Given the description of an element on the screen output the (x, y) to click on. 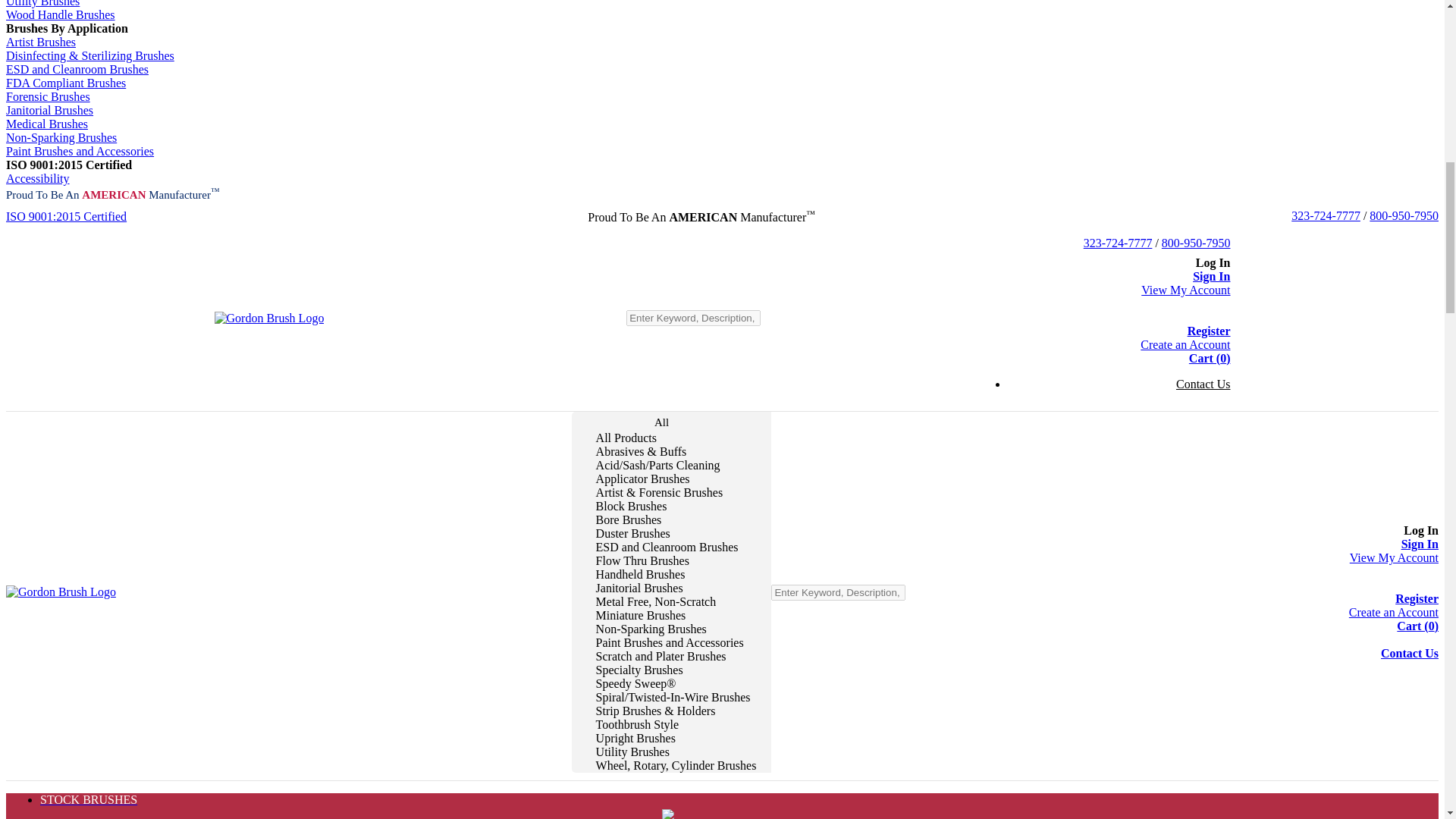
Gordon Brush Logo (60, 591)
Gordon Brush Logo (268, 318)
